Given the description of an element on the screen output the (x, y) to click on. 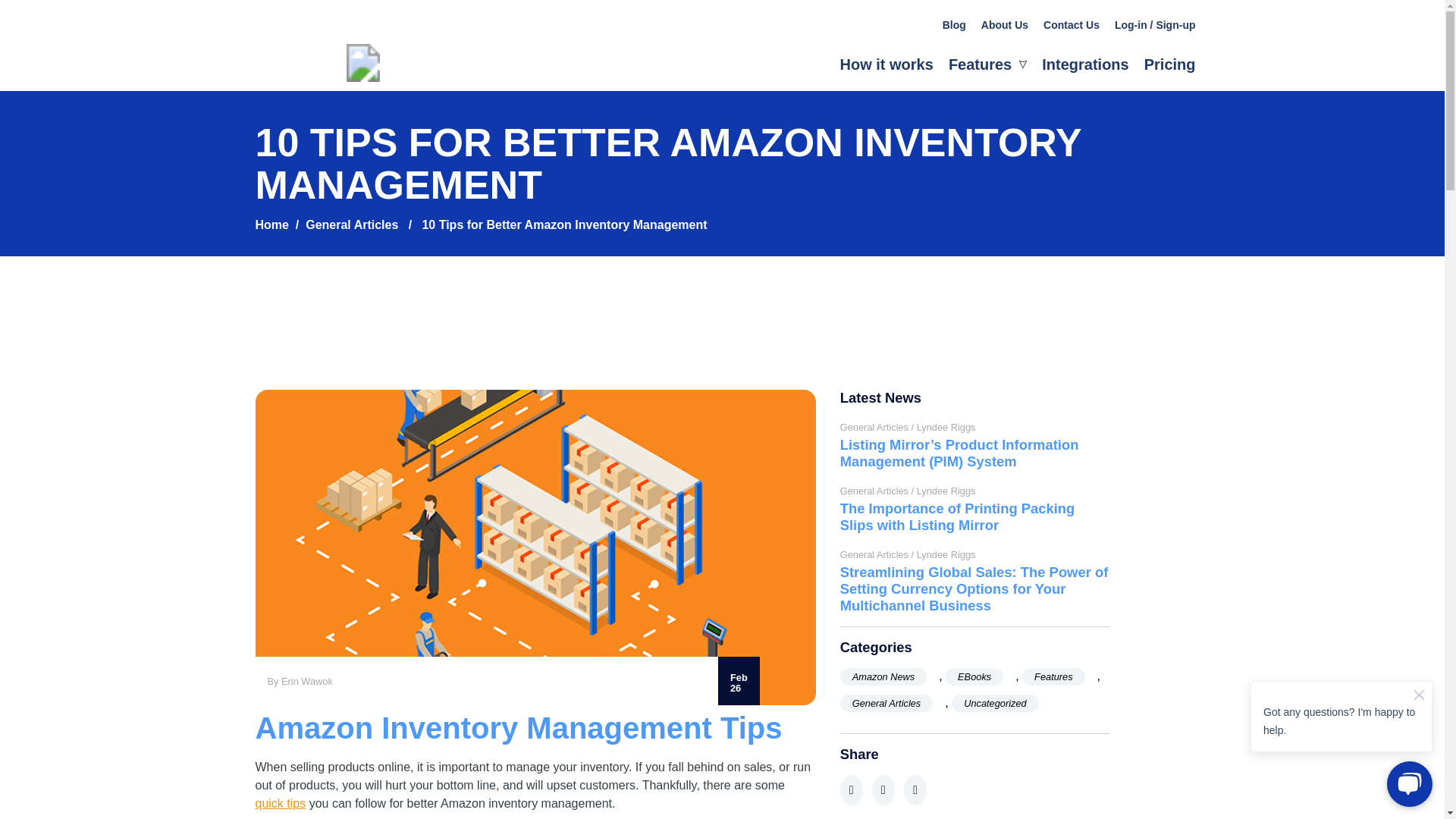
How it works (886, 64)
Contact Us (1071, 24)
EBooks (973, 676)
Home (271, 224)
Pricing (1169, 64)
About Us (1004, 24)
Integrations (1085, 64)
Features (987, 64)
The Importance of Printing Packing Slips with Listing Mirror (974, 516)
Amazon News (883, 676)
Features (1053, 676)
General Articles (886, 702)
quick tips (279, 802)
Listing Mirror (367, 77)
